Given the description of an element on the screen output the (x, y) to click on. 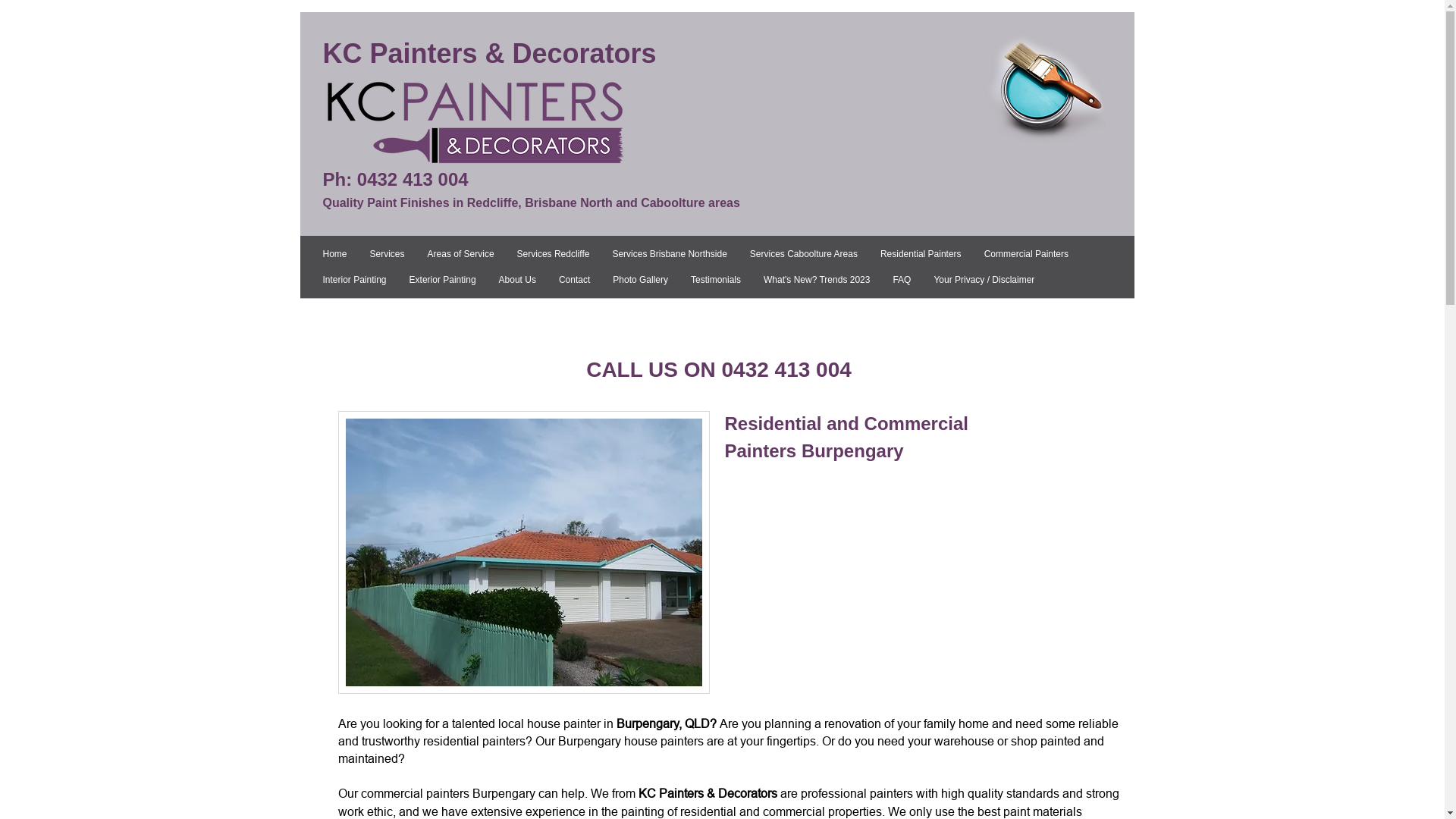
Interior Painting Element type: text (354, 279)
Services Redcliffe Element type: text (553, 253)
FAQ Element type: text (901, 279)
About Us Element type: text (517, 279)
Commercial Painters Element type: text (1026, 253)
Services Caboolture Areas Element type: text (803, 253)
Home Element type: text (334, 253)
Services Brisbane Northside Element type: text (669, 253)
Residential Painters Element type: text (920, 253)
What's New? Trends 2023 Element type: text (816, 279)
Exterior Painting Element type: text (442, 279)
Contact Element type: text (574, 279)
Services Element type: text (387, 253)
Testimonials Element type: text (715, 279)
Your Privacy / Disclaimer Element type: text (983, 279)
Areas of Service Element type: text (461, 253)
Photo Gallery Element type: text (640, 279)
